Given the description of an element on the screen output the (x, y) to click on. 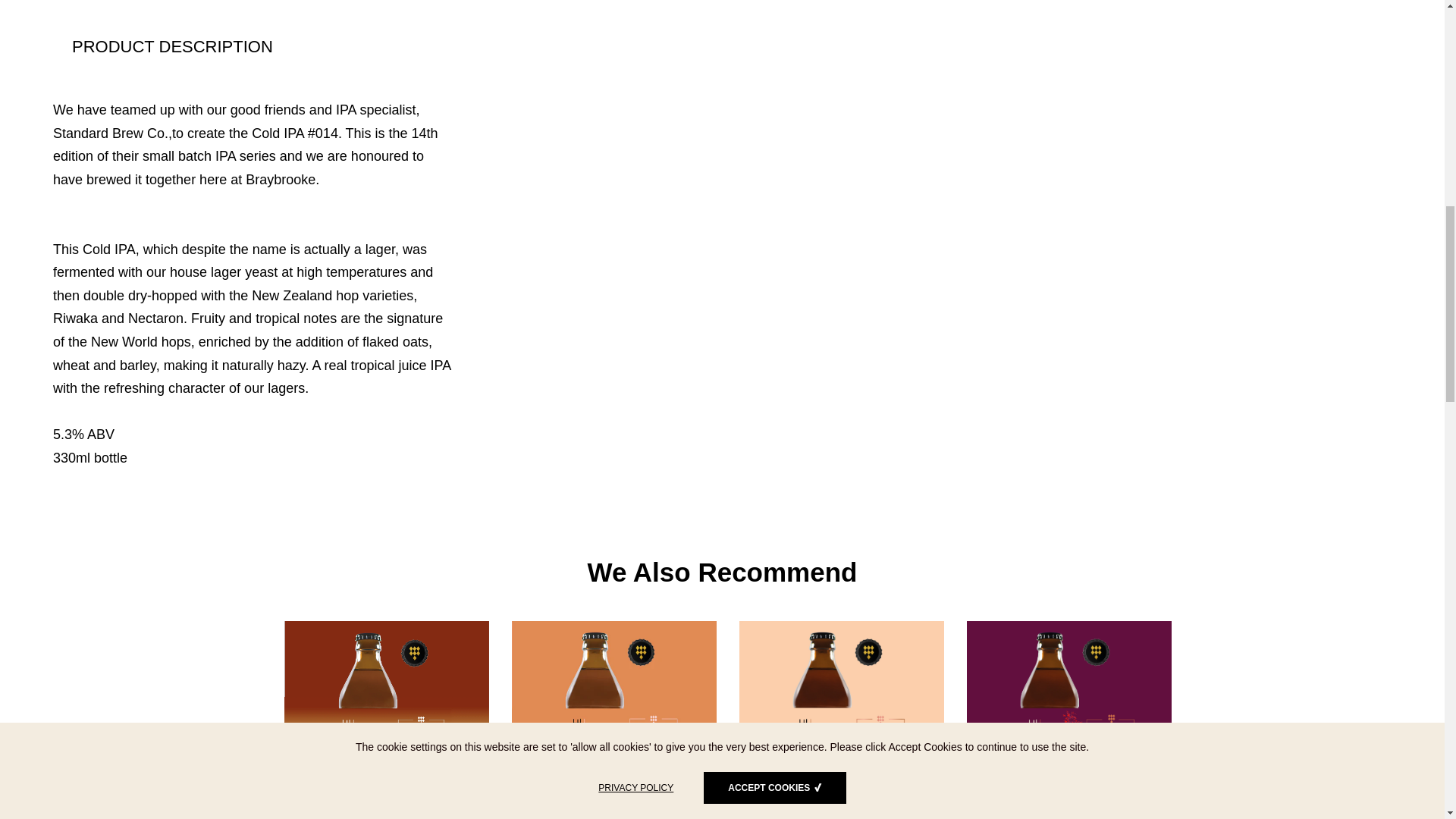
PRODUCT DESCRIPTION (172, 46)
